Given the description of an element on the screen output the (x, y) to click on. 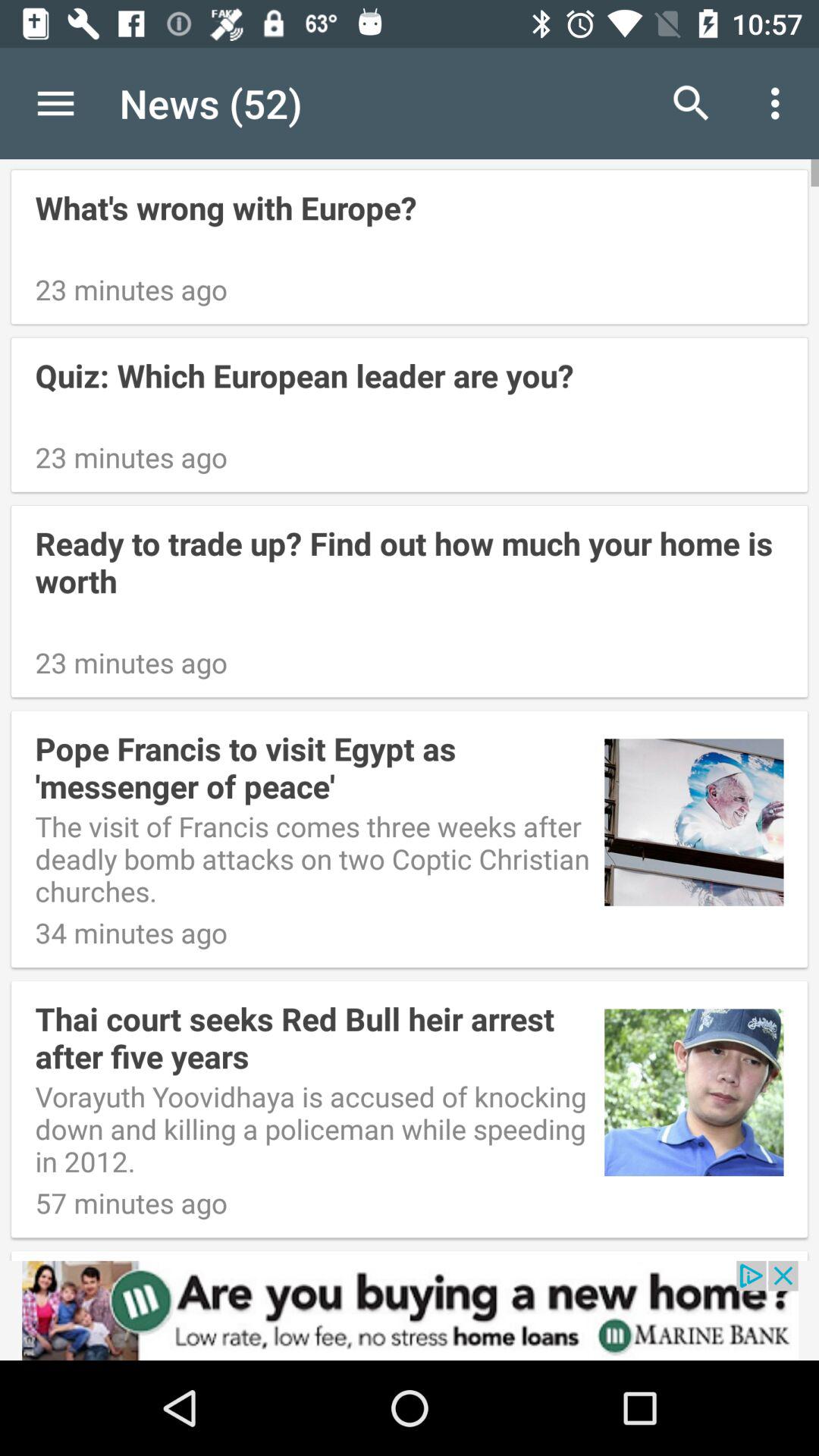
view advertisement (409, 1310)
